Given the description of an element on the screen output the (x, y) to click on. 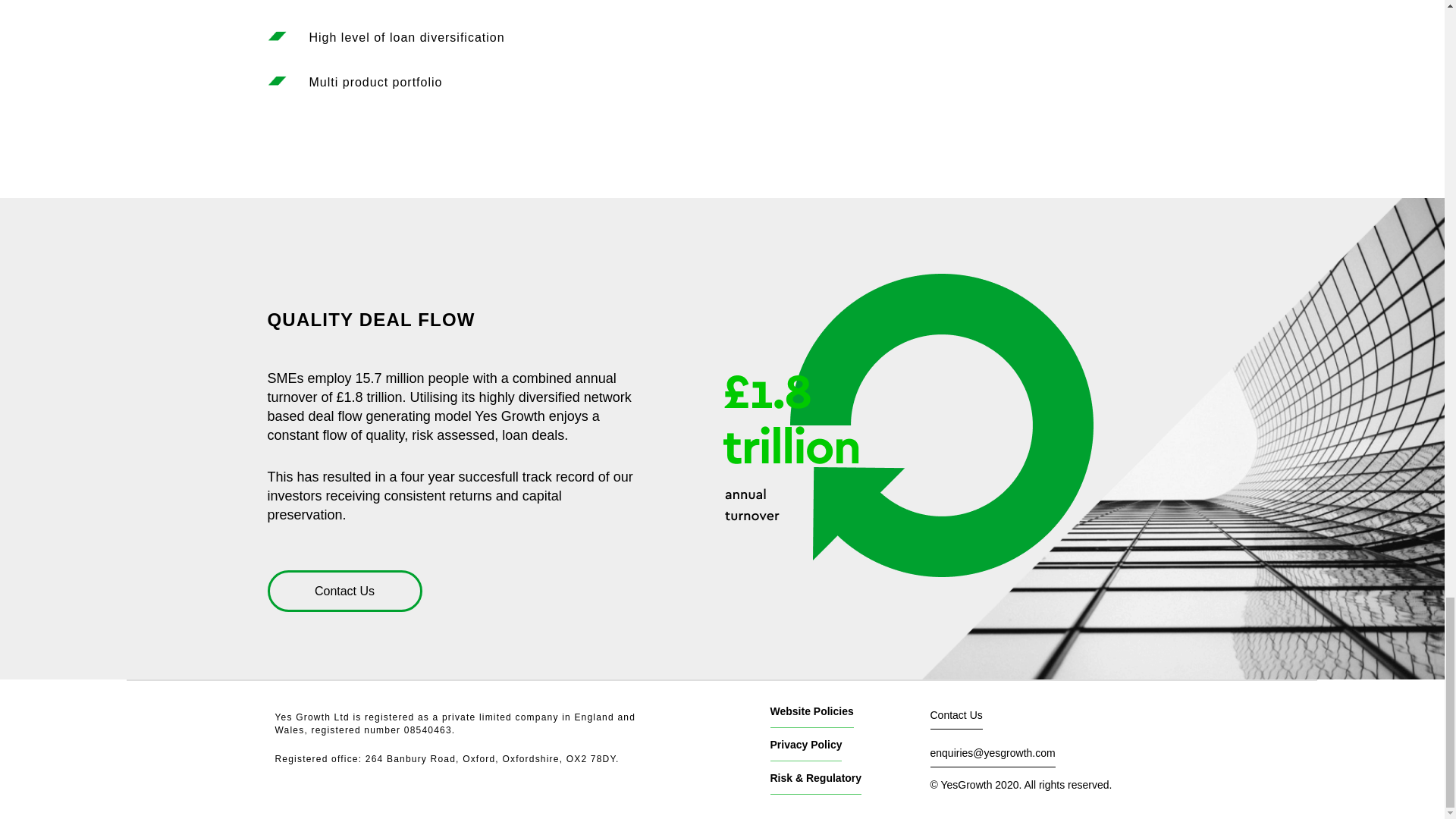
Website Policies (811, 711)
Privacy Policy (806, 744)
Contact Us (955, 715)
Contact Us (344, 590)
